Given the description of an element on the screen output the (x, y) to click on. 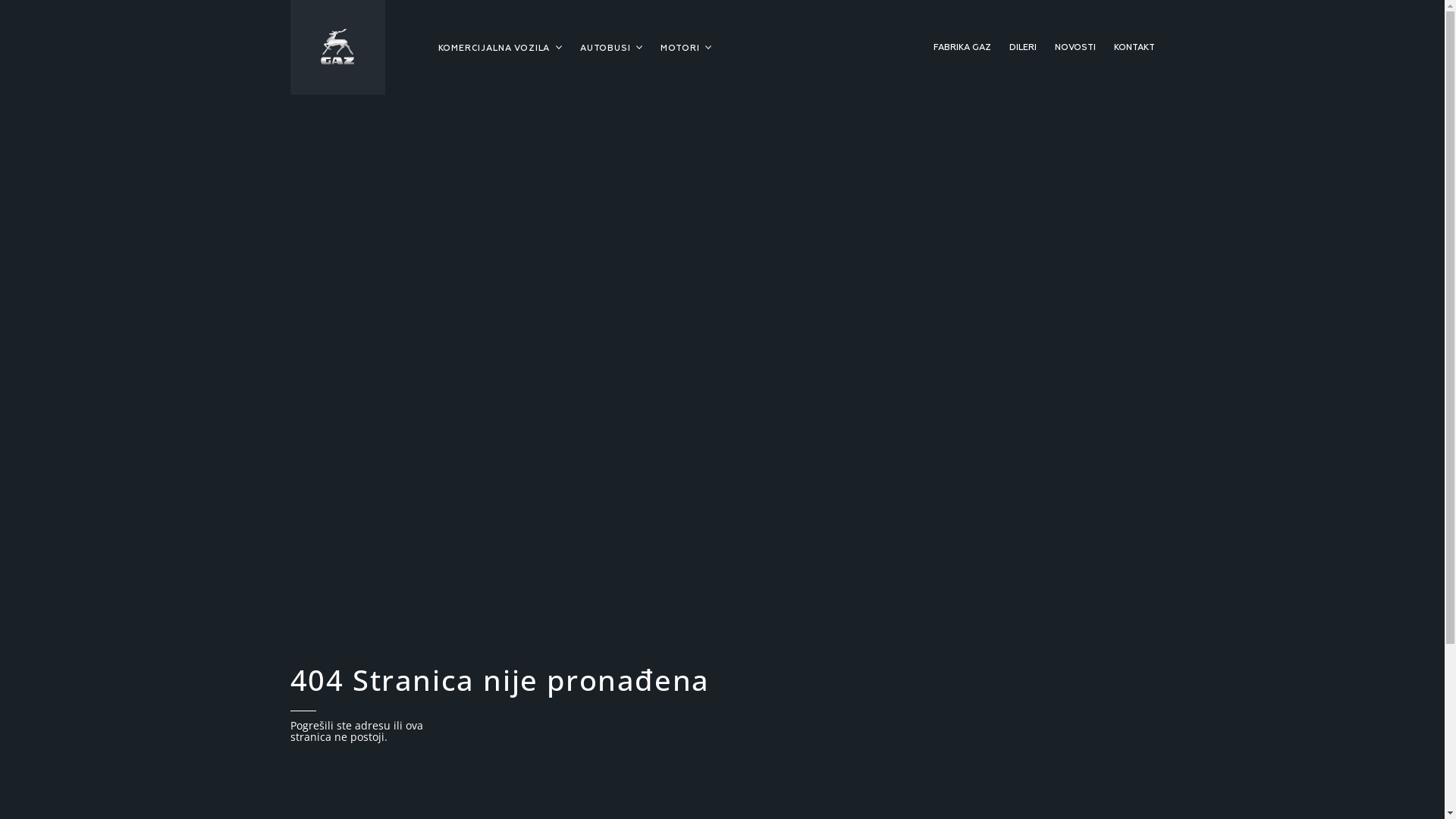
DILERI Element type: text (1027, 47)
AUTOBUSI Element type: text (606, 47)
FABRIKA GAZ Element type: text (968, 47)
NOVOSTI Element type: text (1079, 47)
MOTORI Element type: text (677, 47)
KONTAKT Element type: text (1134, 47)
KOMERCIJALNA VOZILA Element type: text (498, 47)
